Given the description of an element on the screen output the (x, y) to click on. 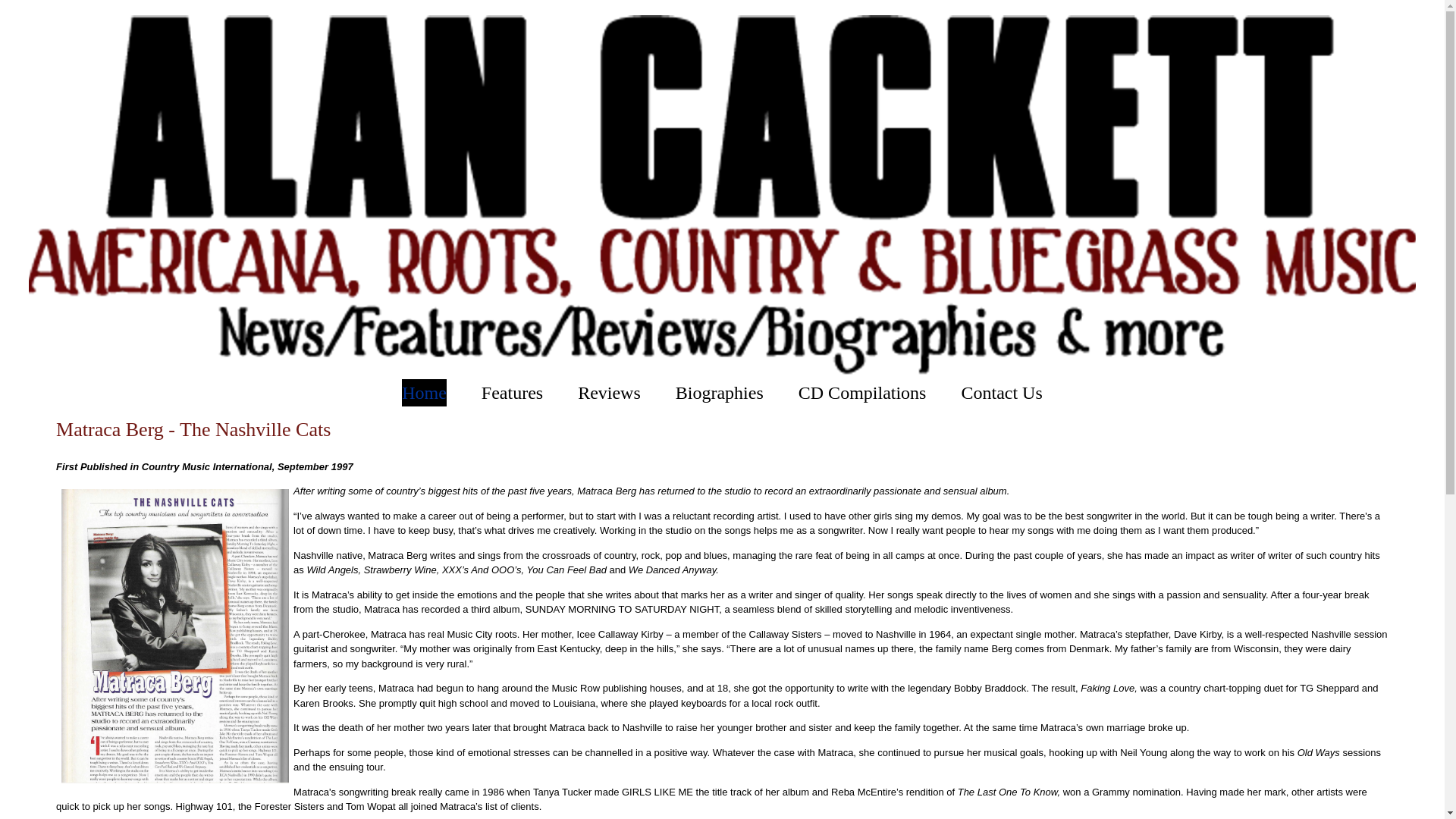
CD Compilations (861, 392)
Contact Us (1001, 392)
Reviews (609, 392)
Home (423, 392)
Biographies (718, 392)
Features (512, 392)
